Given the description of an element on the screen output the (x, y) to click on. 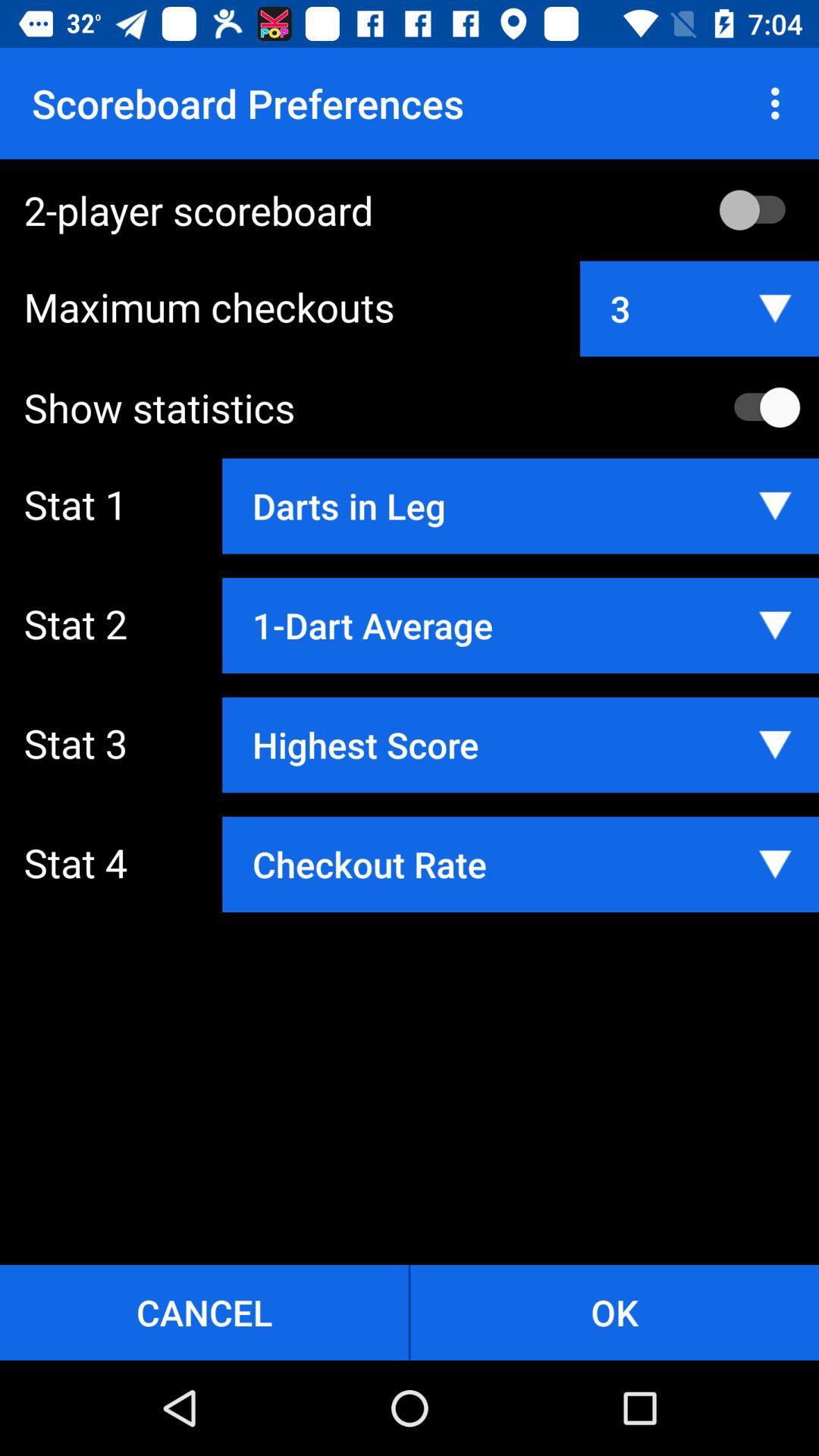
launch the 2-player scoreboard item (421, 210)
